Given the description of an element on the screen output the (x, y) to click on. 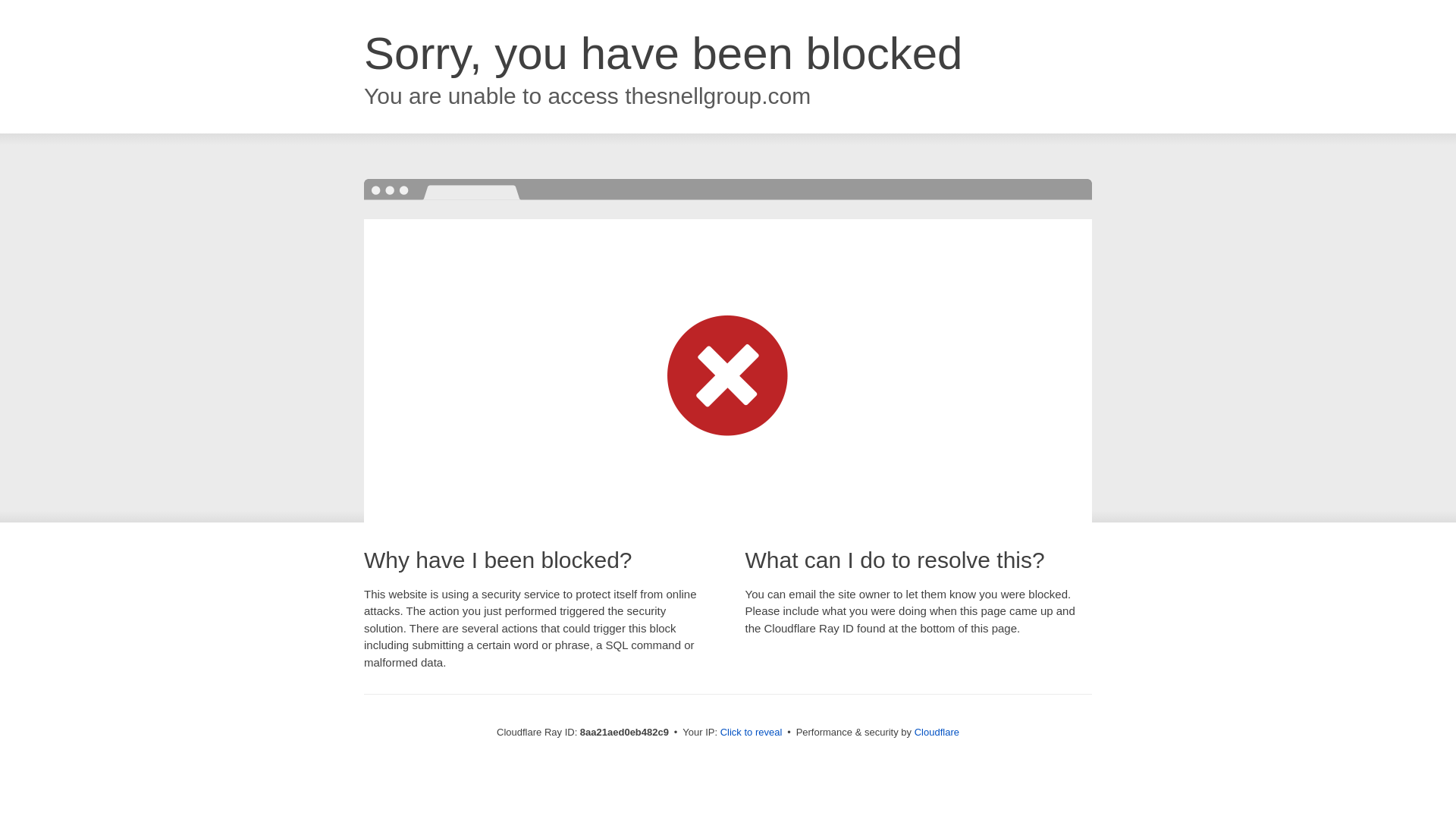
Click to reveal (751, 732)
Cloudflare (936, 731)
